Given the description of an element on the screen output the (x, y) to click on. 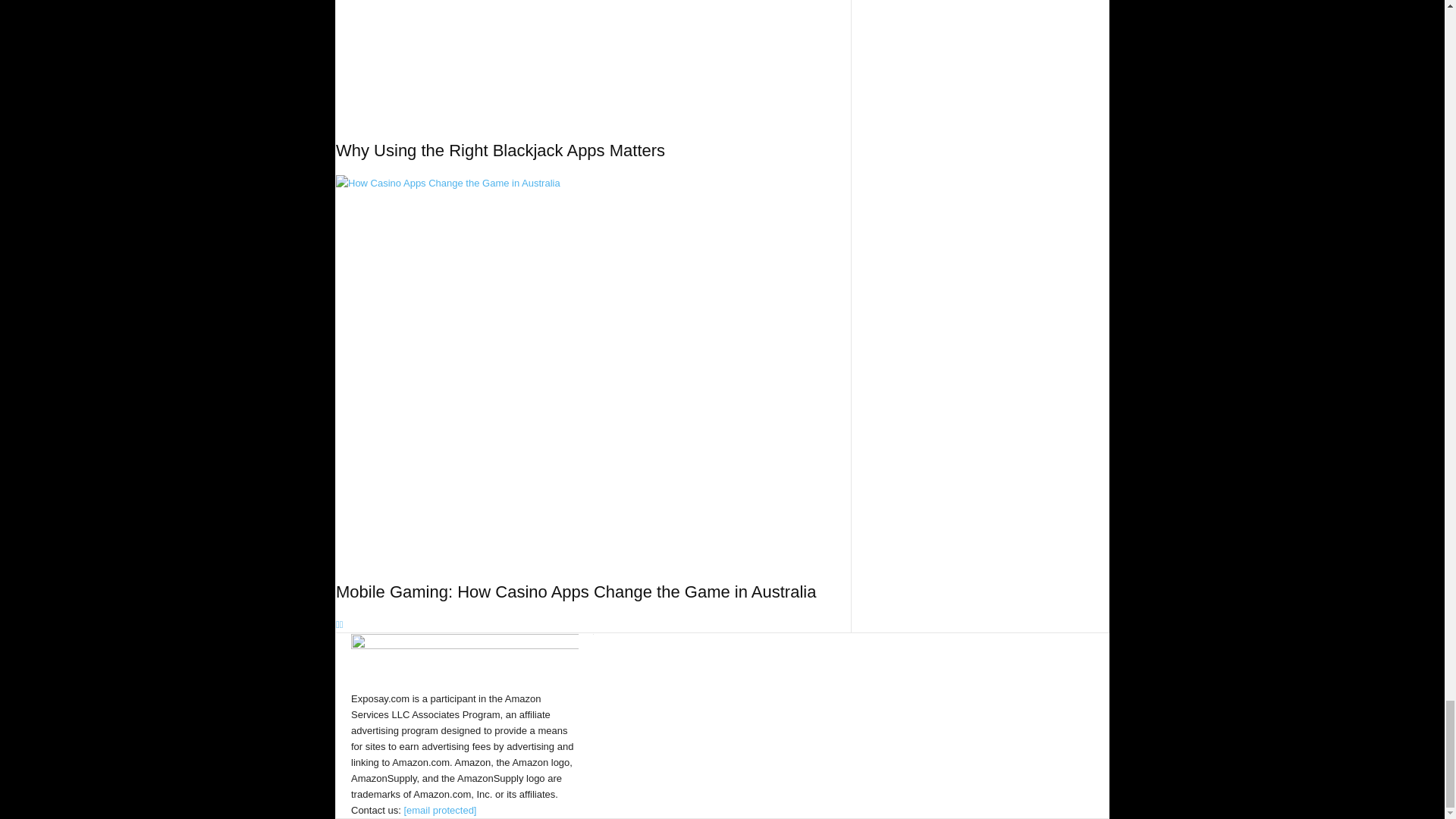
Why Using the Right Blackjack Apps Matters (593, 59)
Why Using the Right Blackjack Apps Matters (500, 149)
